Given the description of an element on the screen output the (x, y) to click on. 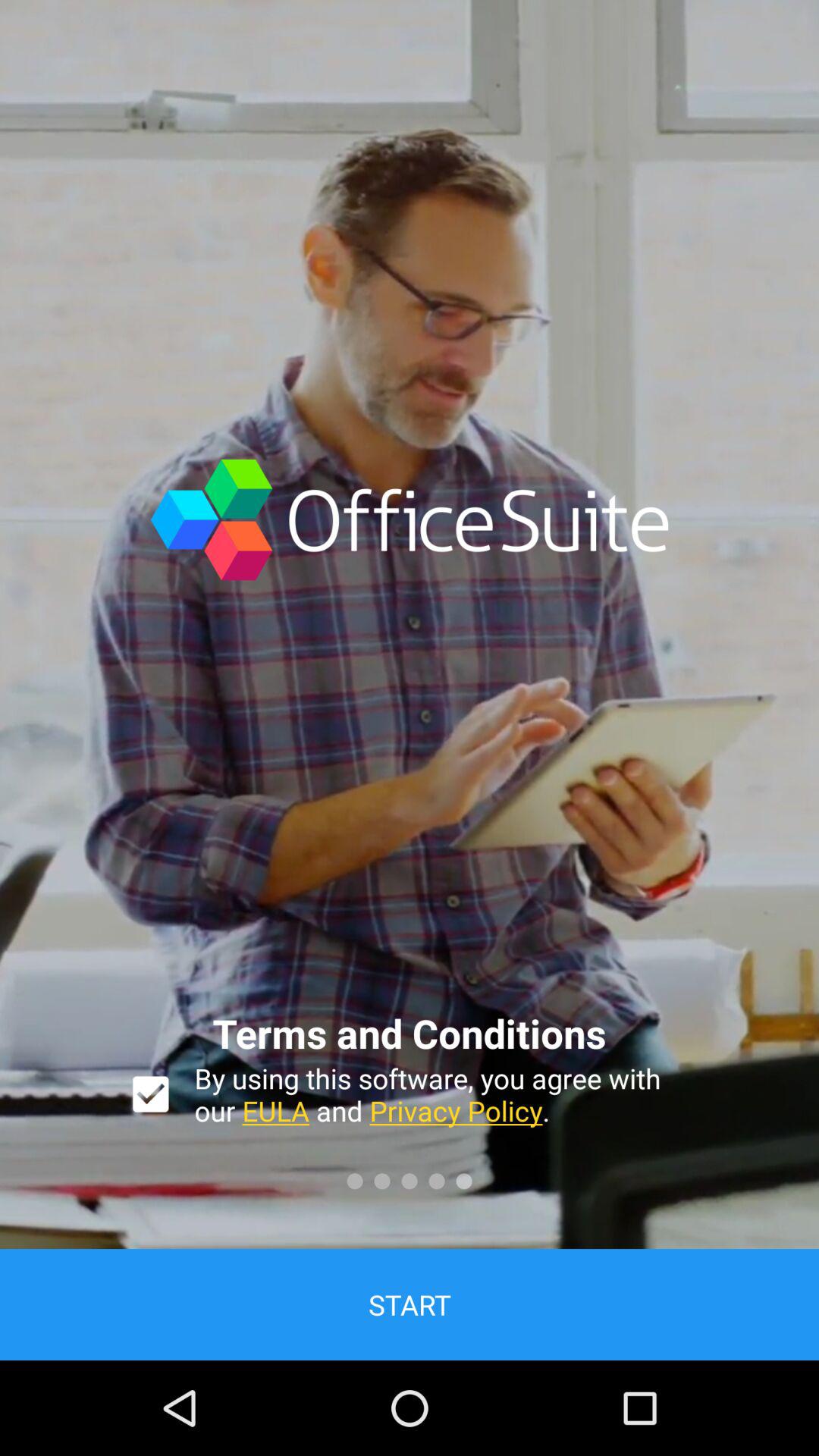
agree to the terms and conditions (150, 1094)
